Given the description of an element on the screen output the (x, y) to click on. 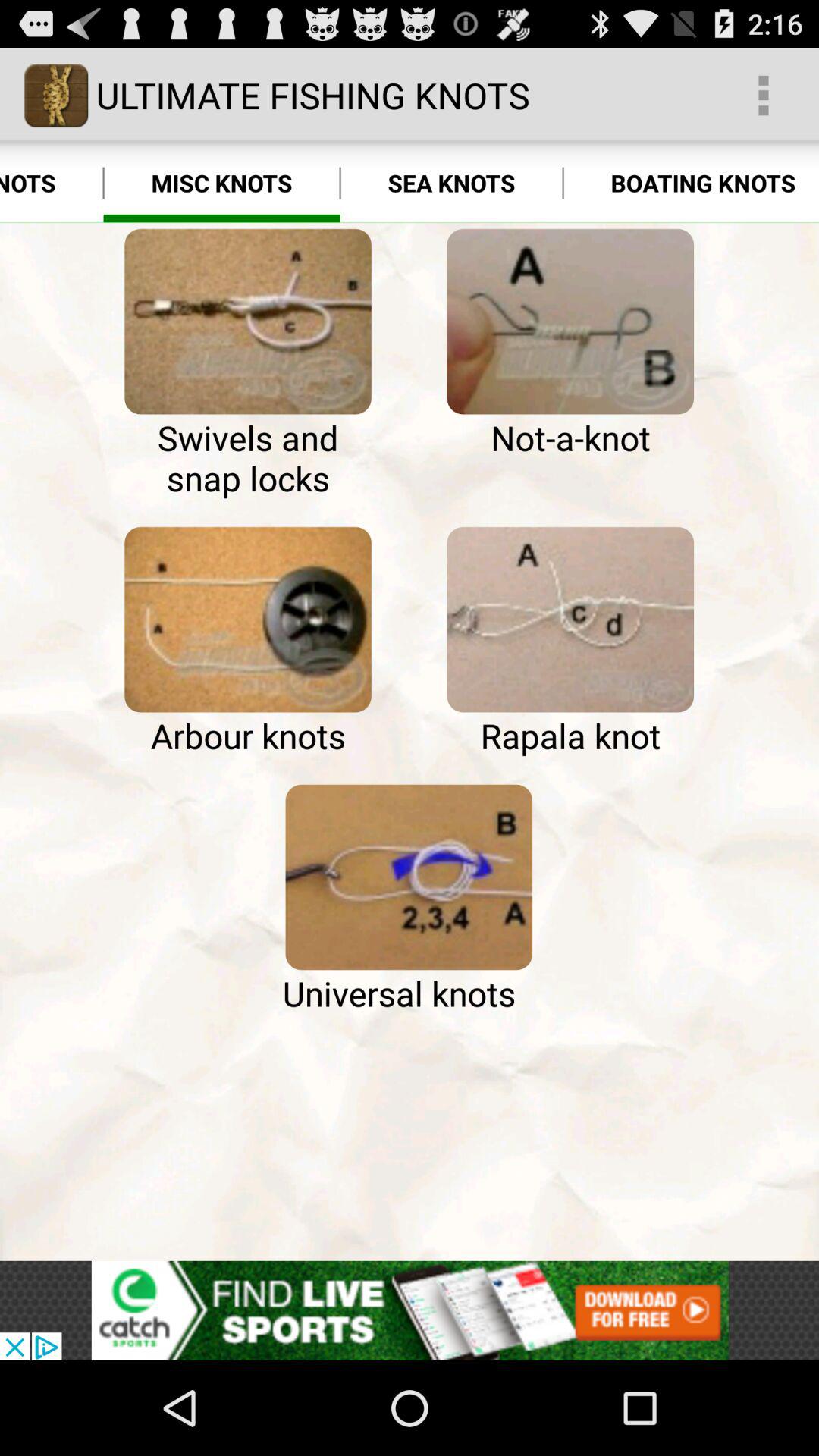
launch icon below misc knots (247, 321)
